Given the description of an element on the screen output the (x, y) to click on. 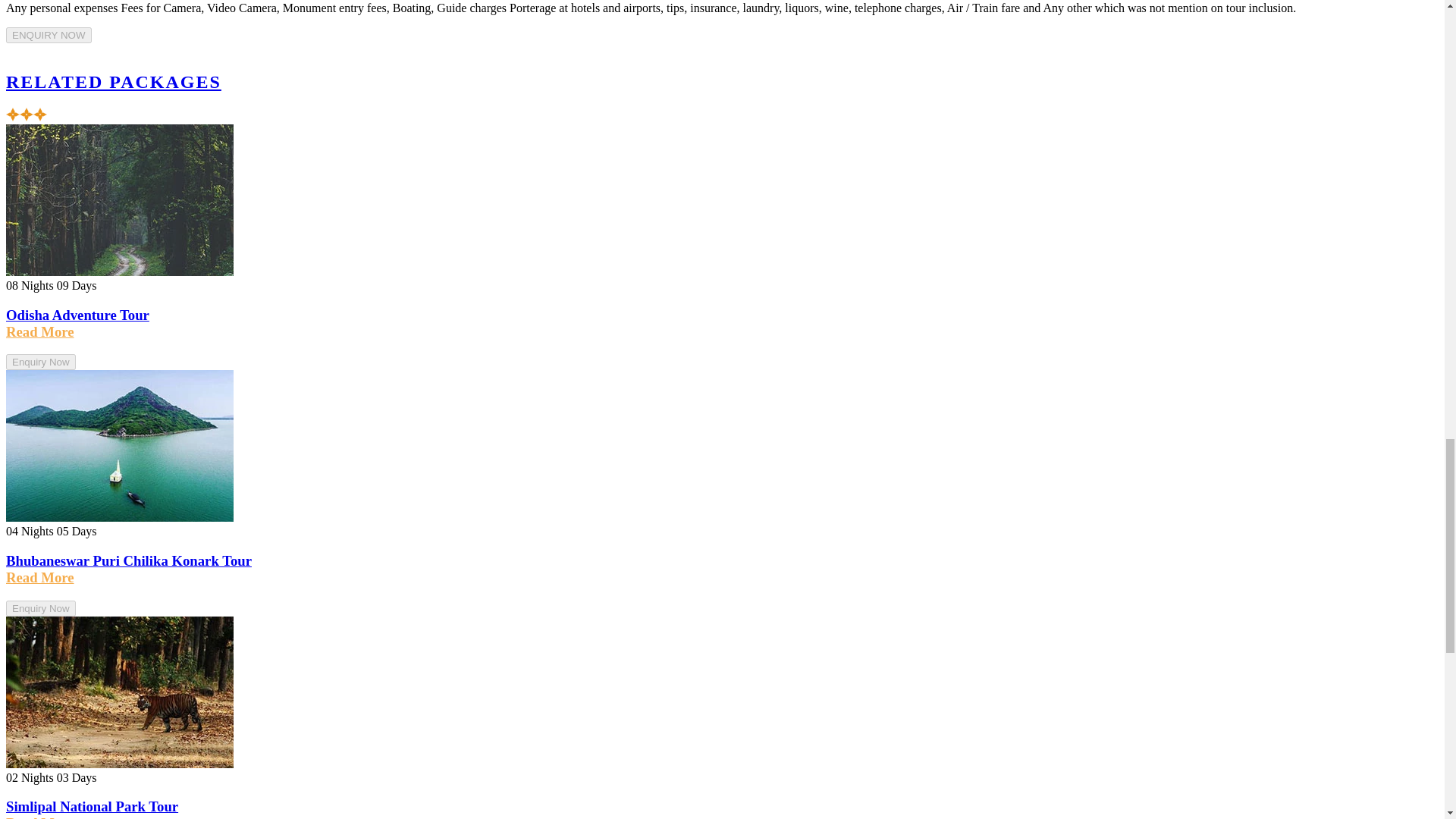
Enquiry Now (40, 607)
Read More (39, 331)
Read More (39, 577)
ENQUIRY NOW (48, 33)
Odisha Adventure Tour  (78, 314)
ENQUIRY NOW (48, 35)
Enquiry Now (40, 360)
Enquiry Now (40, 361)
Bhubaneswar Puri Chilika Konark Tour  (129, 560)
